Given the description of an element on the screen output the (x, y) to click on. 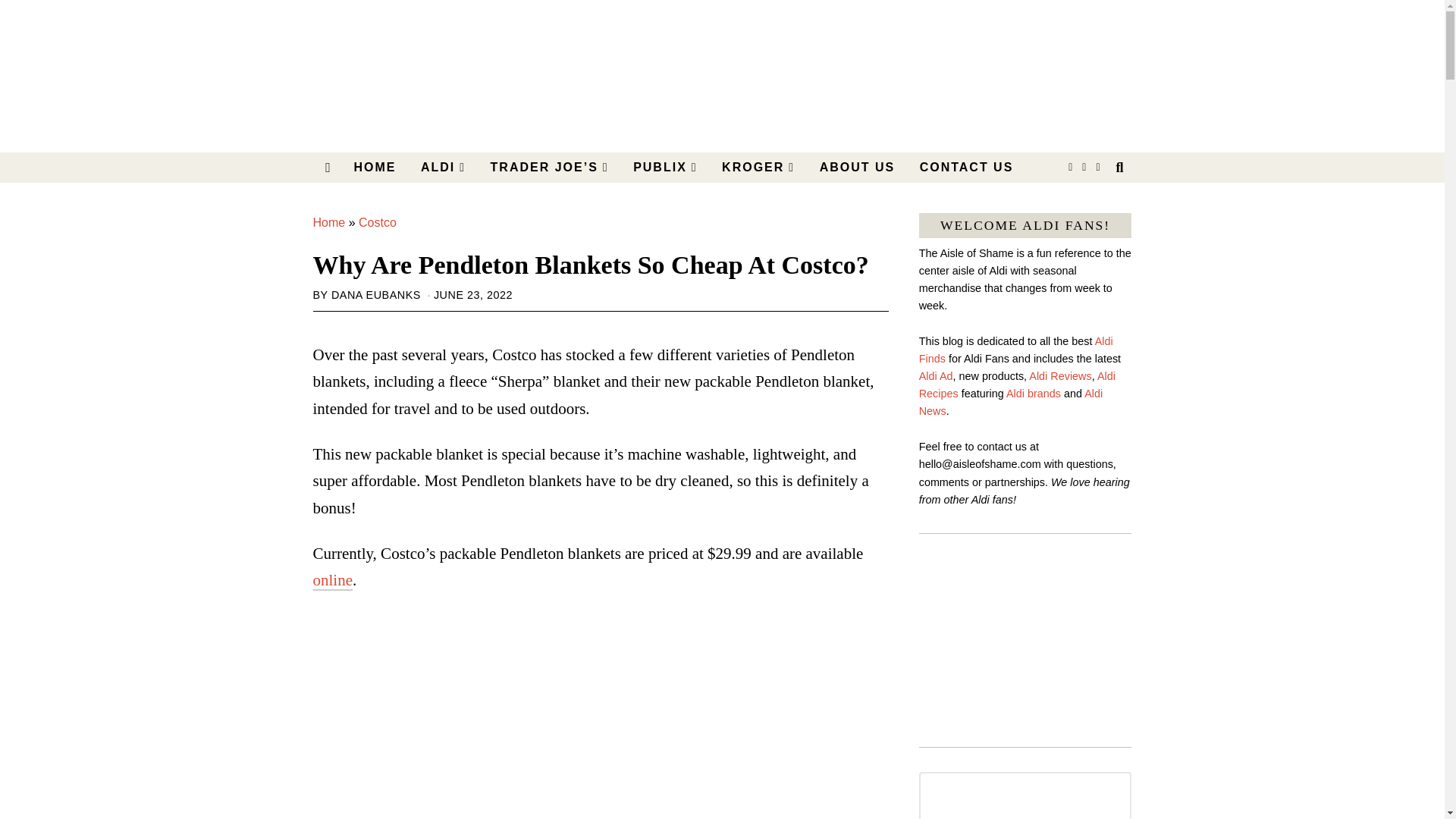
HOME (374, 167)
Home (329, 222)
CONTACT US (966, 167)
DANA EUBANKS (375, 295)
ALDI (443, 167)
online (332, 579)
PUBLIX (665, 167)
KROGER (758, 167)
Costco (377, 222)
ABOUT US (857, 167)
